Given the description of an element on the screen output the (x, y) to click on. 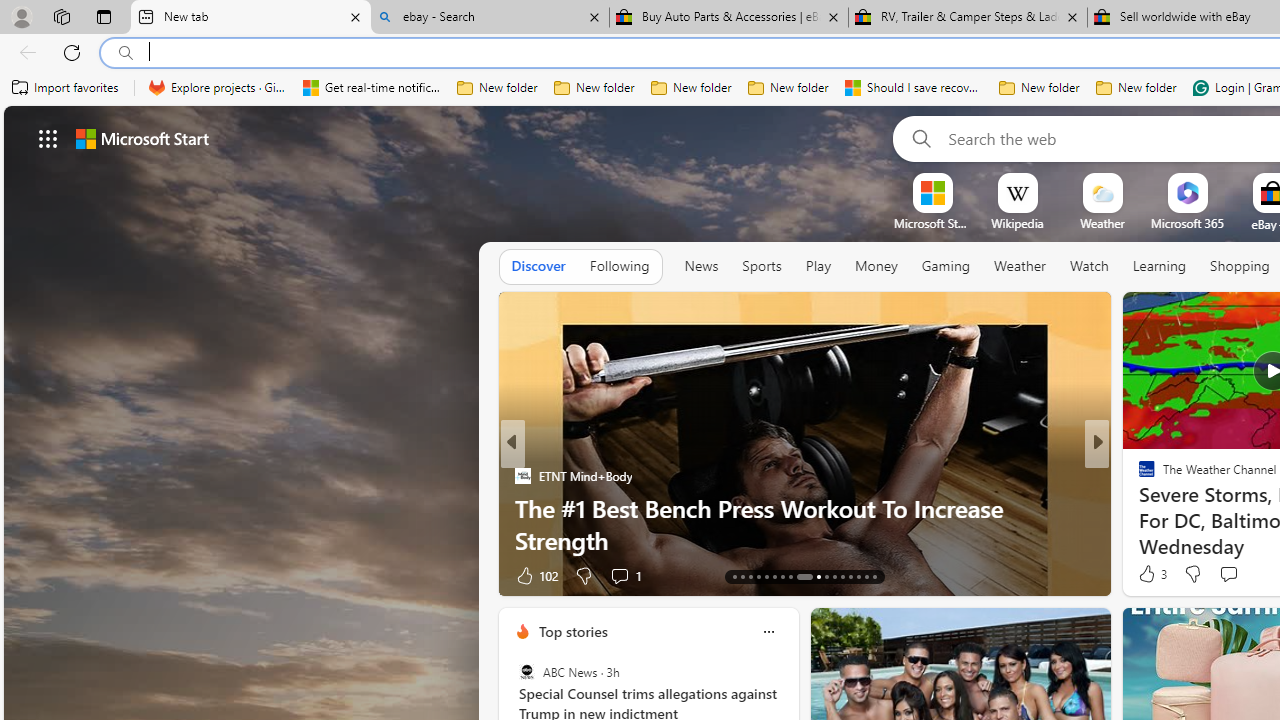
Import favorites (65, 88)
View comments 1 Comment (1241, 574)
AutomationID: tab-18 (774, 576)
AutomationID: tab-22 (812, 576)
View comments 1 Comment (1234, 575)
116 Like (1151, 574)
AutomationID: tab-16 (757, 576)
AutomationID: tab-27 (857, 576)
